Given the description of an element on the screen output the (x, y) to click on. 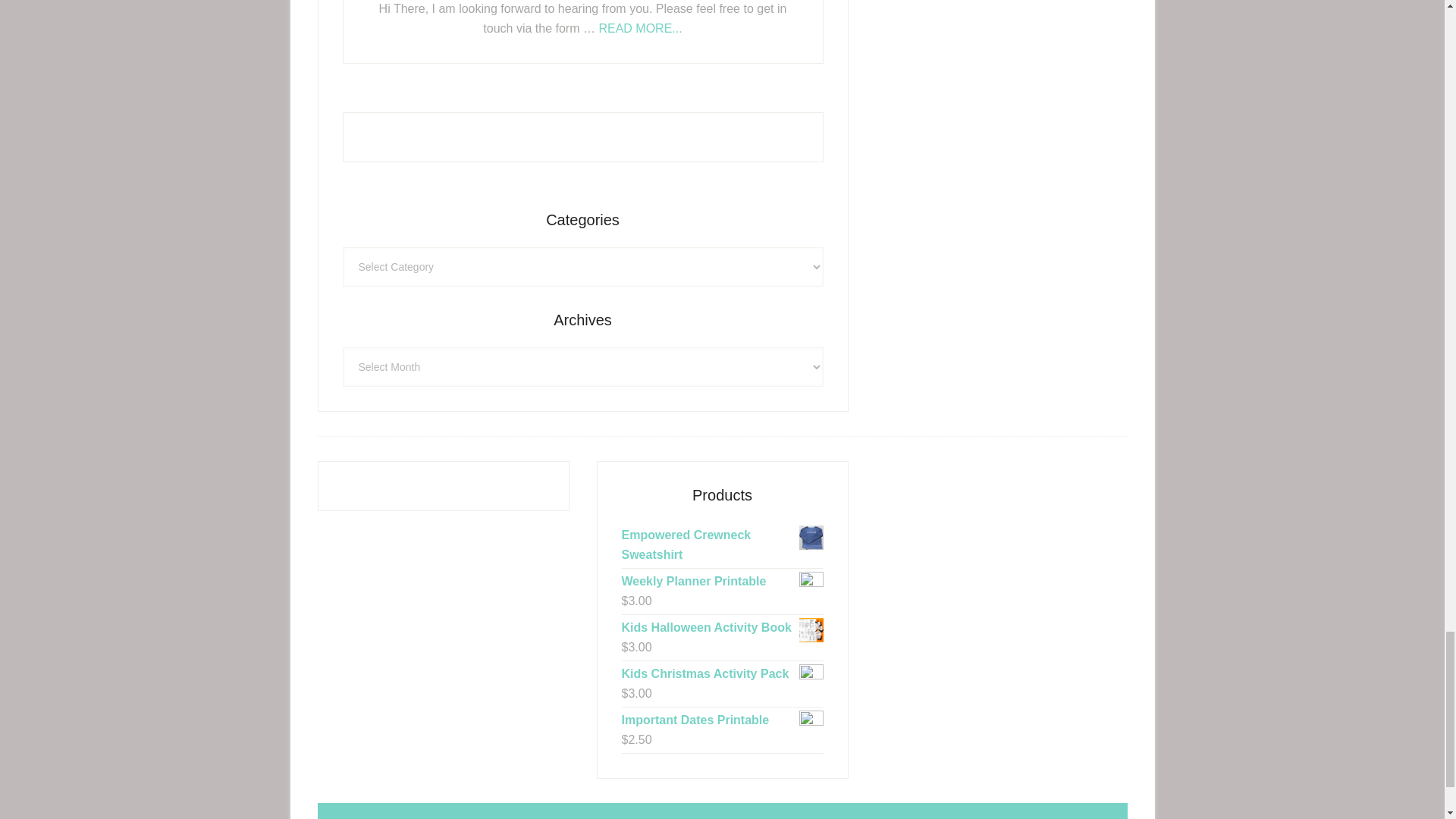
READ MORE... (639, 28)
